Given the description of an element on the screen output the (x, y) to click on. 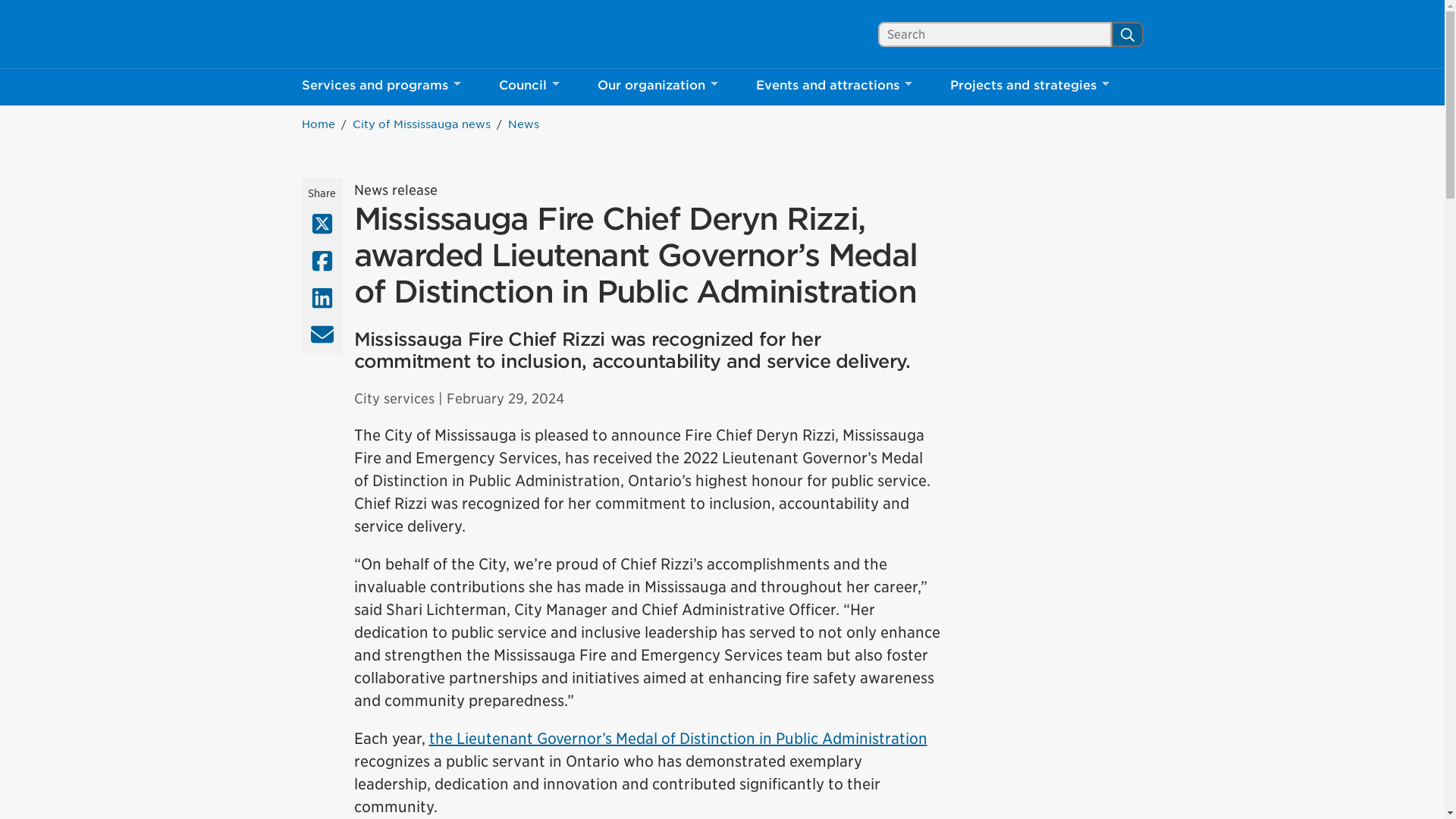
Our organization (657, 86)
Services and programs (369, 33)
Events and attractions (380, 86)
Search (833, 86)
City of Mississauga home (1127, 33)
City of Mississauga Homepage (369, 33)
Council (369, 33)
